Given the description of an element on the screen output the (x, y) to click on. 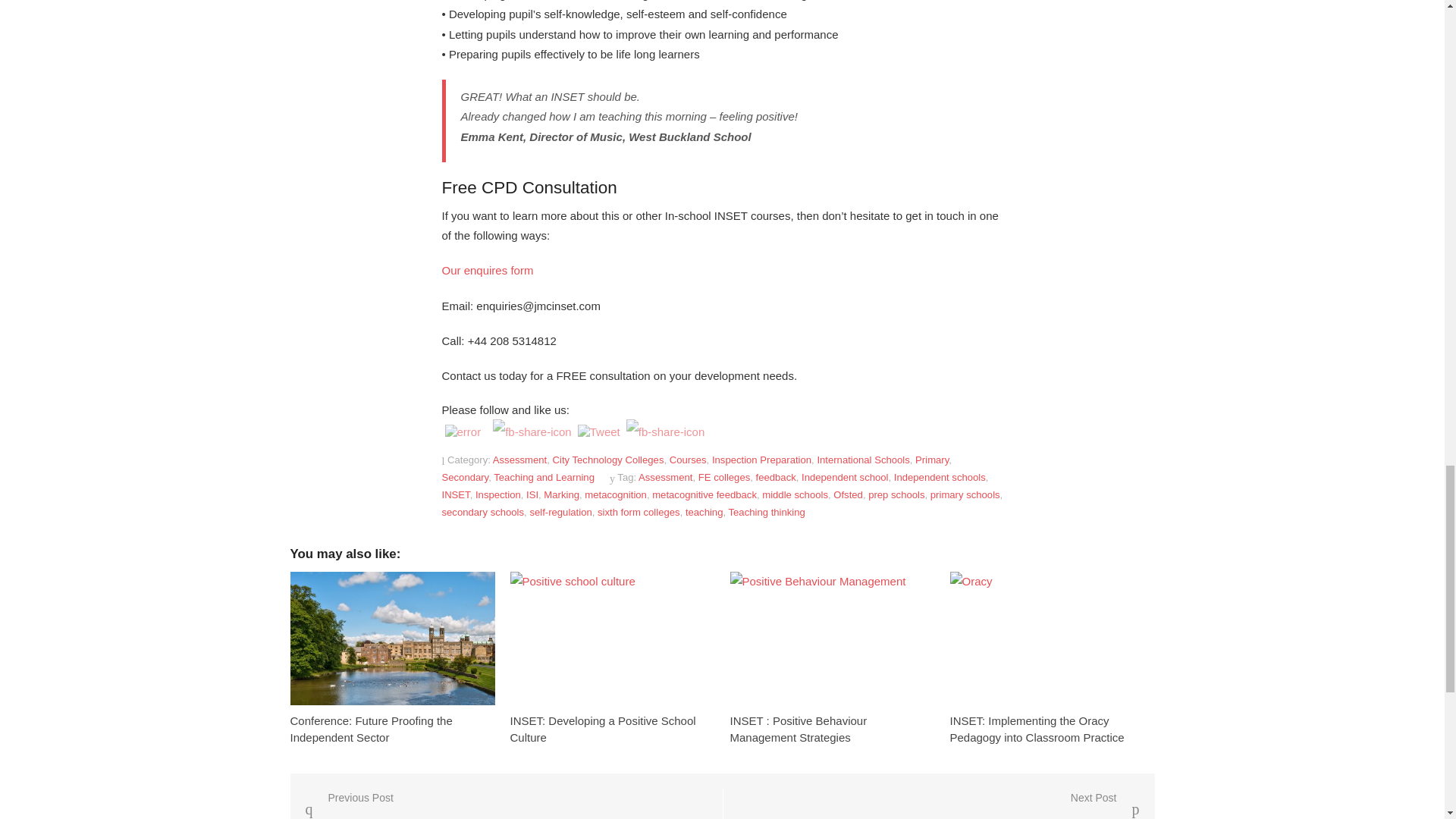
Facebook Share (532, 431)
Tweet (599, 432)
Pin Share (665, 431)
